Given the description of an element on the screen output the (x, y) to click on. 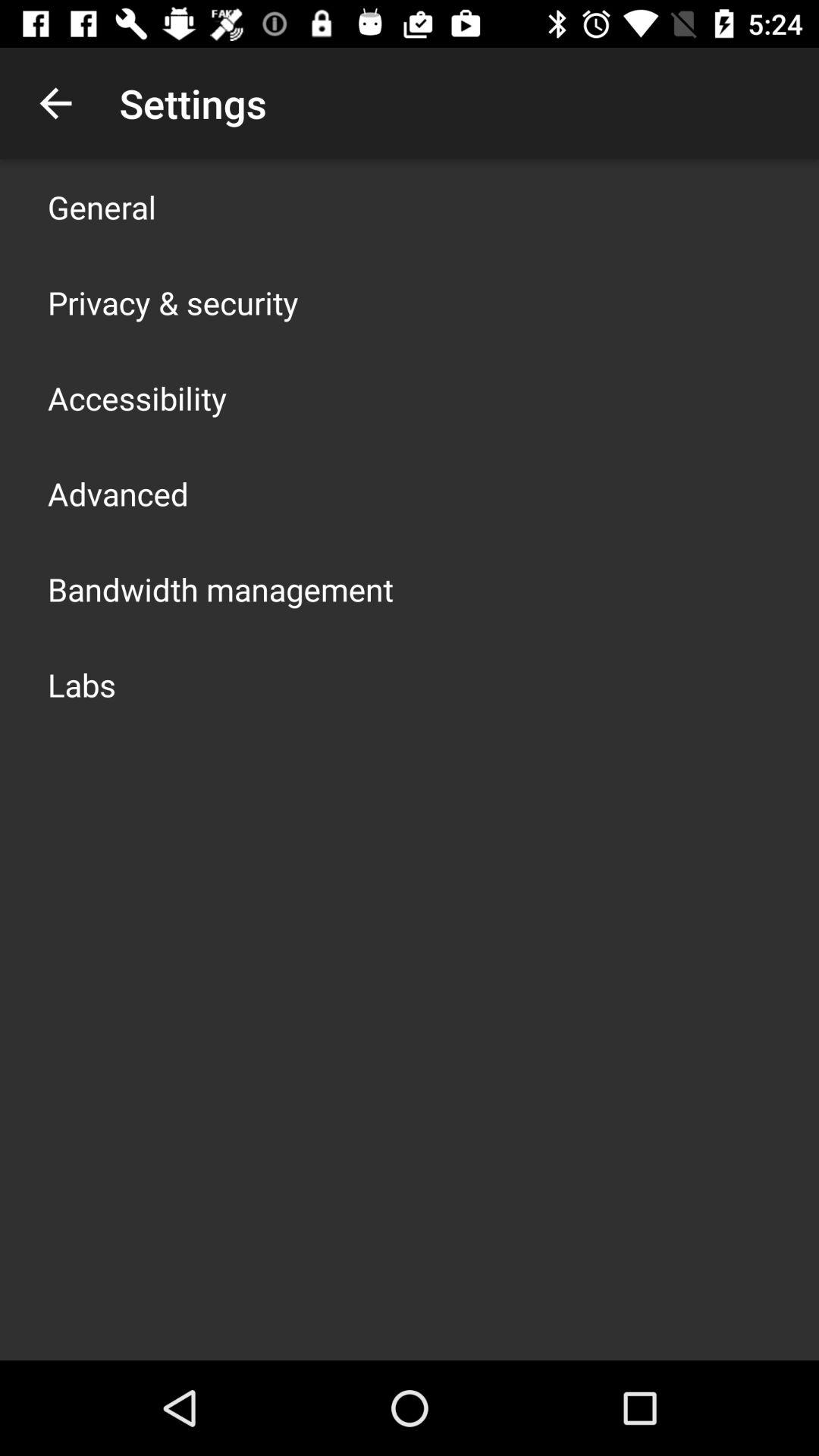
scroll until general item (101, 206)
